Given the description of an element on the screen output the (x, y) to click on. 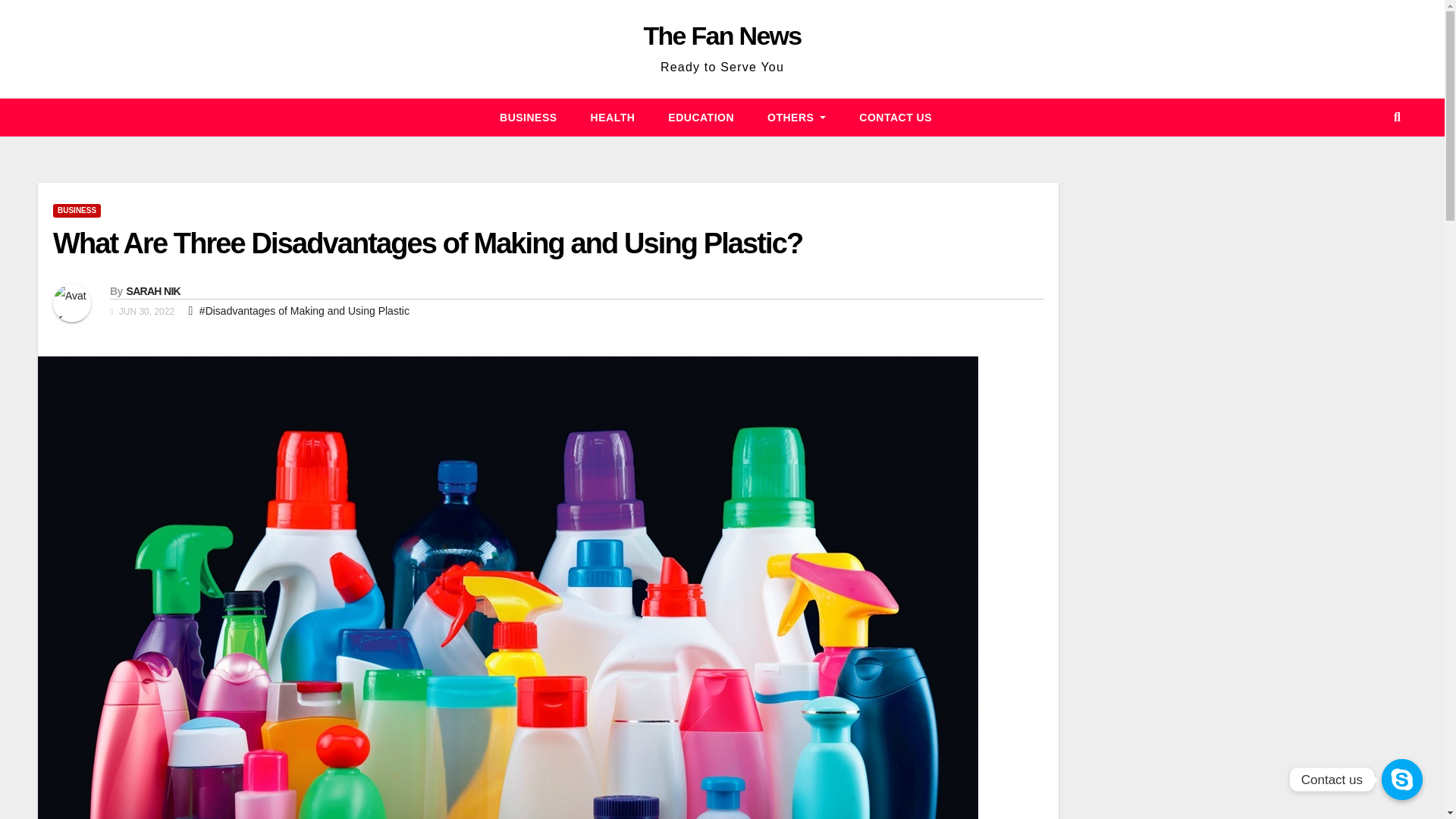
OTHERS (797, 117)
Business (528, 117)
SARAH NIK (152, 291)
BUSINESS (76, 210)
Contact Us (896, 117)
CONTACT US (896, 117)
The Fan News (721, 35)
HEALTH (612, 117)
EDUCATION (700, 117)
Others (797, 117)
